Given the description of an element on the screen output the (x, y) to click on. 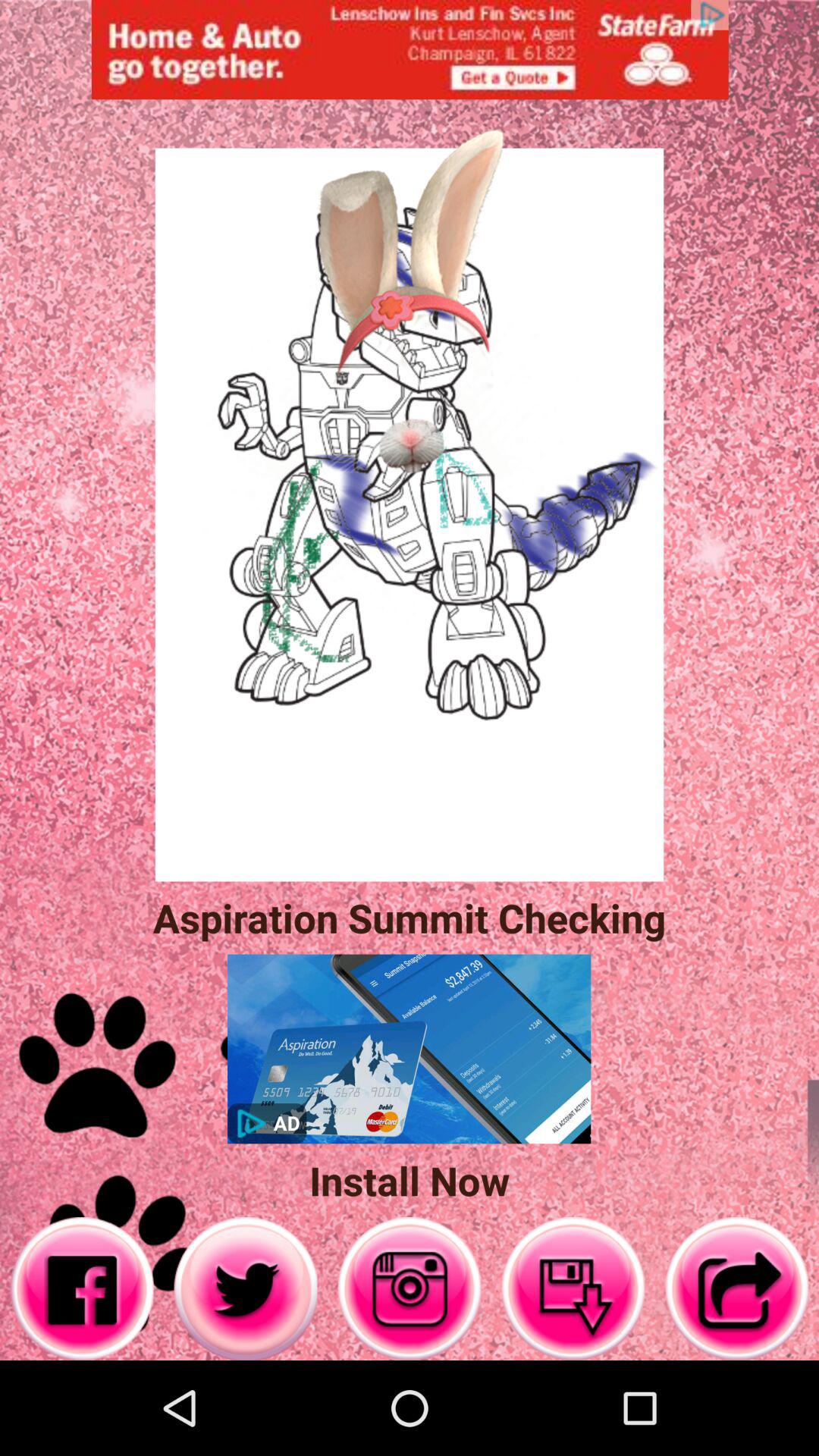
down the mail box option (573, 1288)
